Given the description of an element on the screen output the (x, y) to click on. 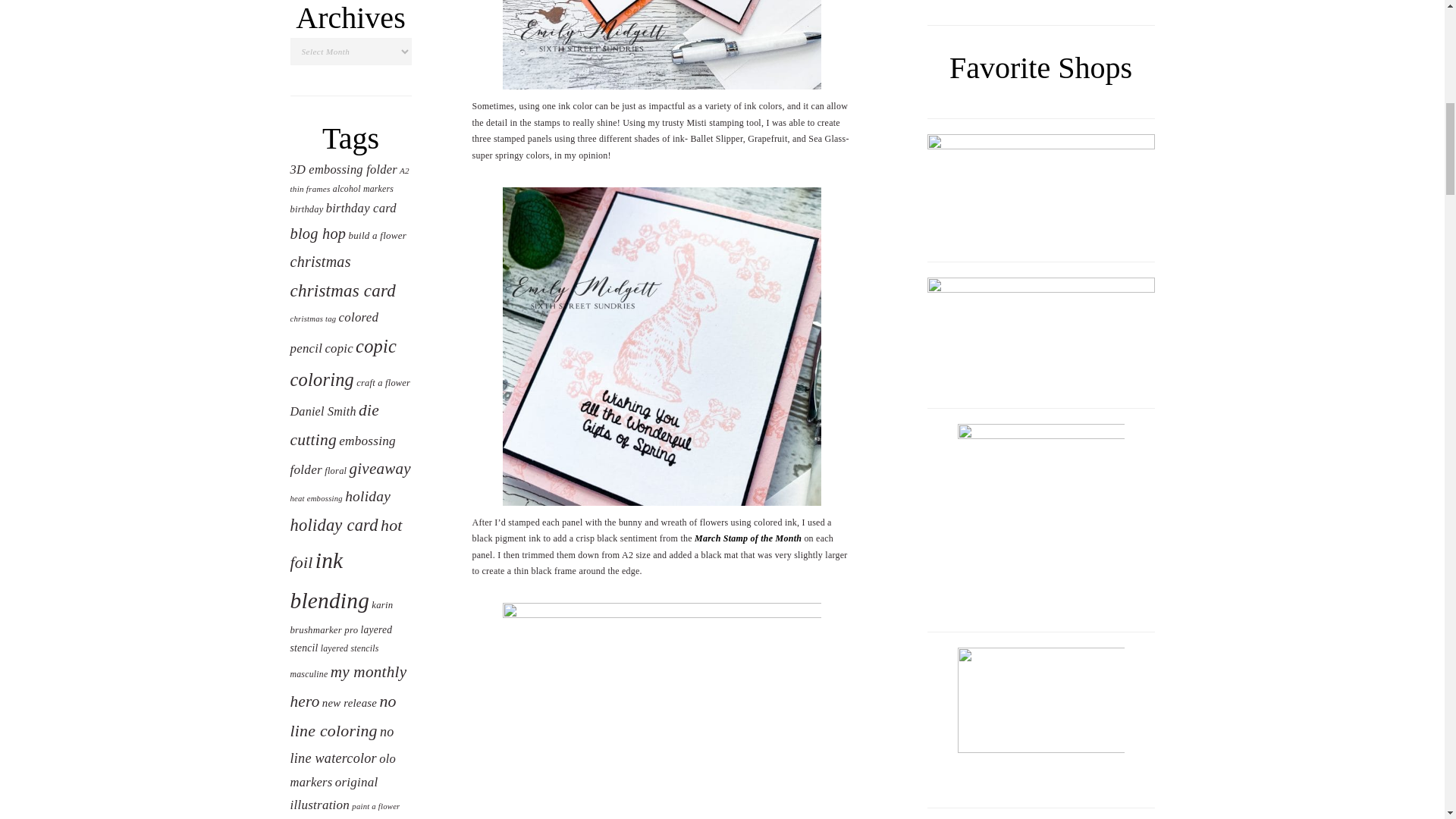
March Stamp of the Month (748, 538)
